Given the description of an element on the screen output the (x, y) to click on. 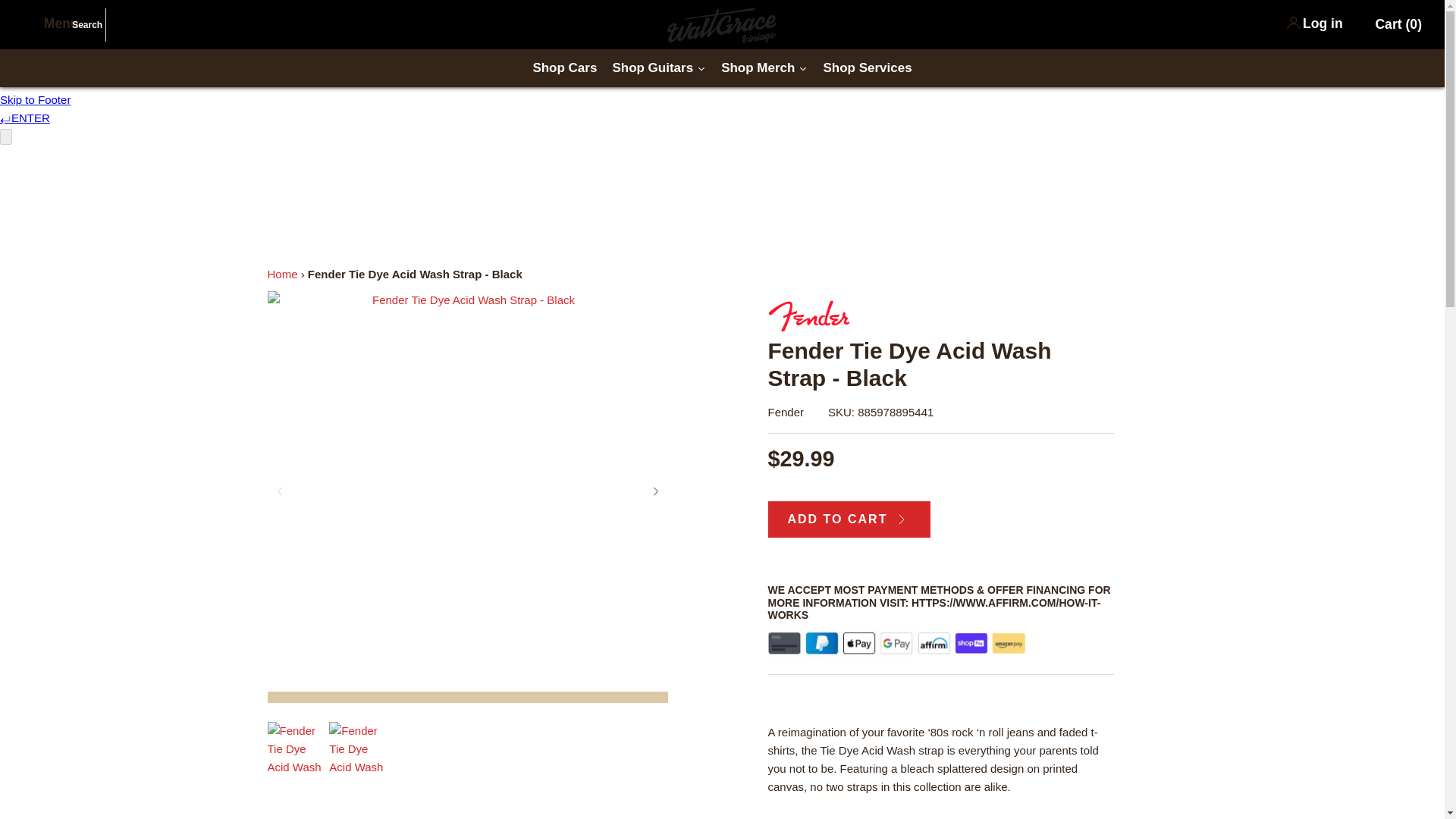
Shop Cars (564, 67)
Shop Services (866, 67)
Fender Tie Dye Acid Wash Strap - Black (357, 749)
Shop Cars (564, 67)
Log in (1322, 22)
GROUP 2 CREATED WITH SKETCH. Menu (50, 22)
Shop Services (866, 67)
Right (654, 491)
Fender Tie Dye Acid Wash Strap - Black (294, 749)
Home (281, 273)
Left (278, 491)
Shop Guitars (658, 67)
Shop Guitars (658, 67)
Shop Merch (764, 67)
Walt Grace Vintage (721, 15)
